Given the description of an element on the screen output the (x, y) to click on. 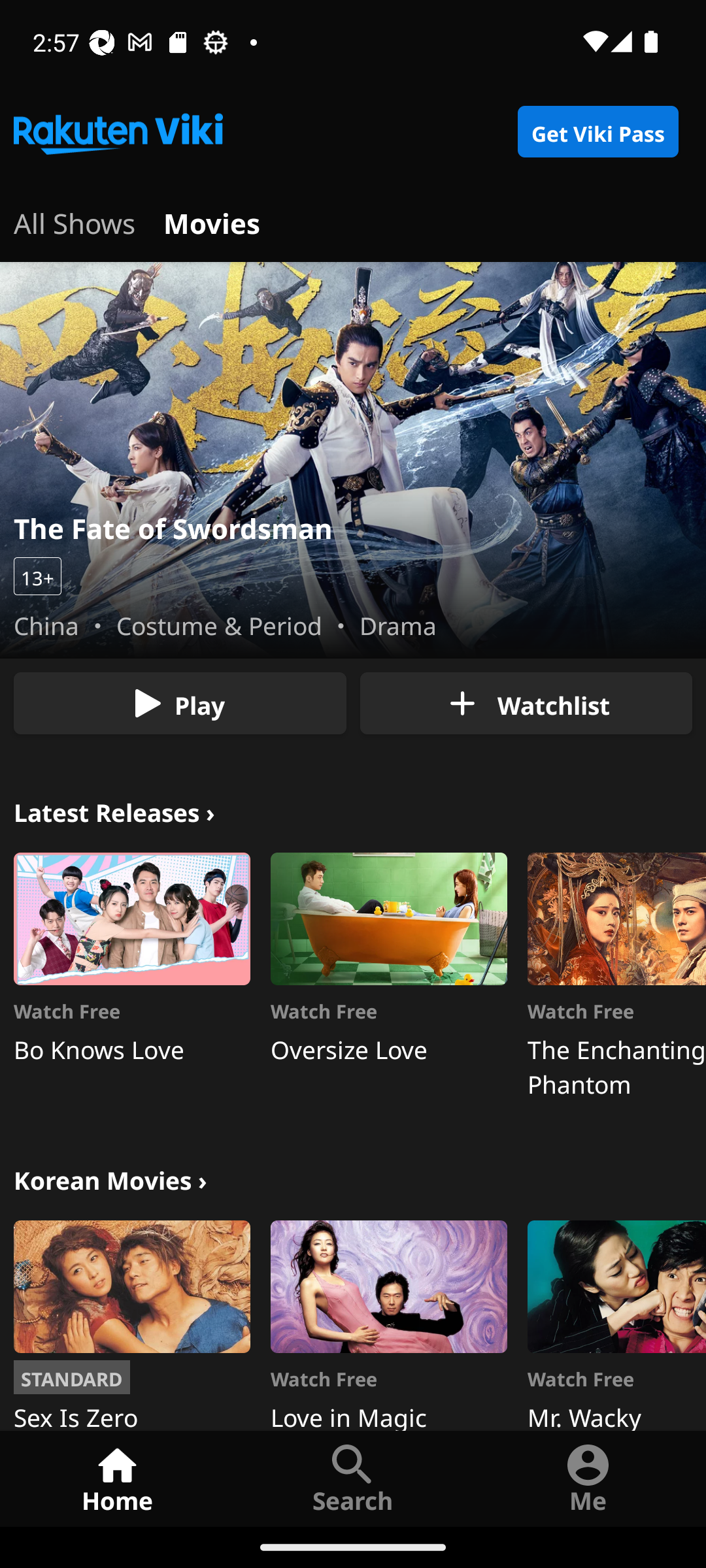
Get Viki Pass (597, 131)
home_tab_all_shows All Shows (74, 220)
Play home_billboard_play_button (179, 702)
Watchlist home_billboard_add_to_watchlist_button (526, 702)
Latest Releases › latest_releases_movies (114, 809)
Korean Movies › korean_movies_trending (110, 1178)
Search (352, 1478)
Me (588, 1478)
